Given the description of an element on the screen output the (x, y) to click on. 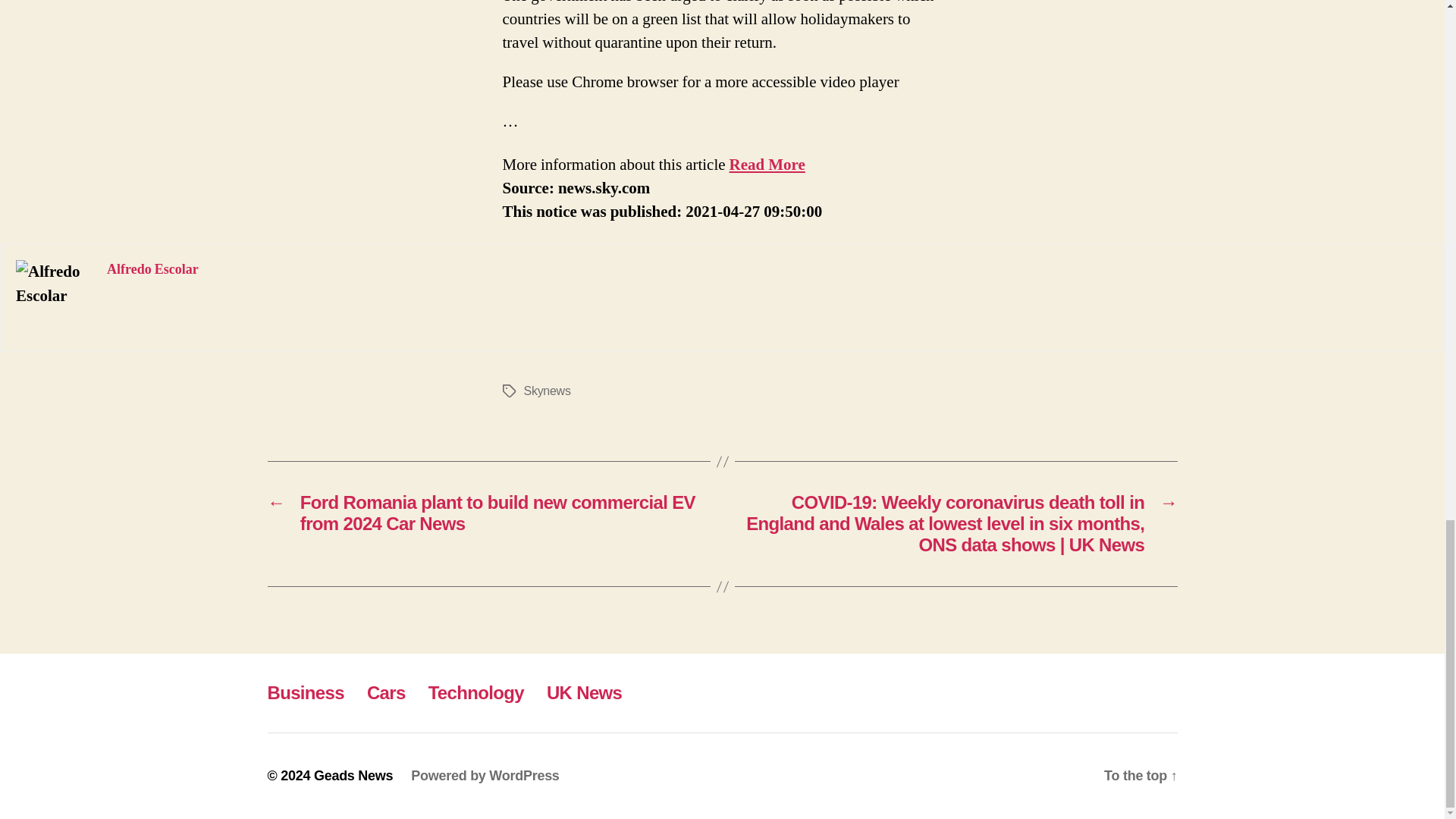
UK News (584, 692)
Cars (386, 692)
Alfredo Escolar (152, 269)
Technology (476, 692)
Geads News (353, 775)
Business (304, 692)
Read More (767, 164)
Skynews (546, 390)
Powered by WordPress (484, 775)
